Given the description of an element on the screen output the (x, y) to click on. 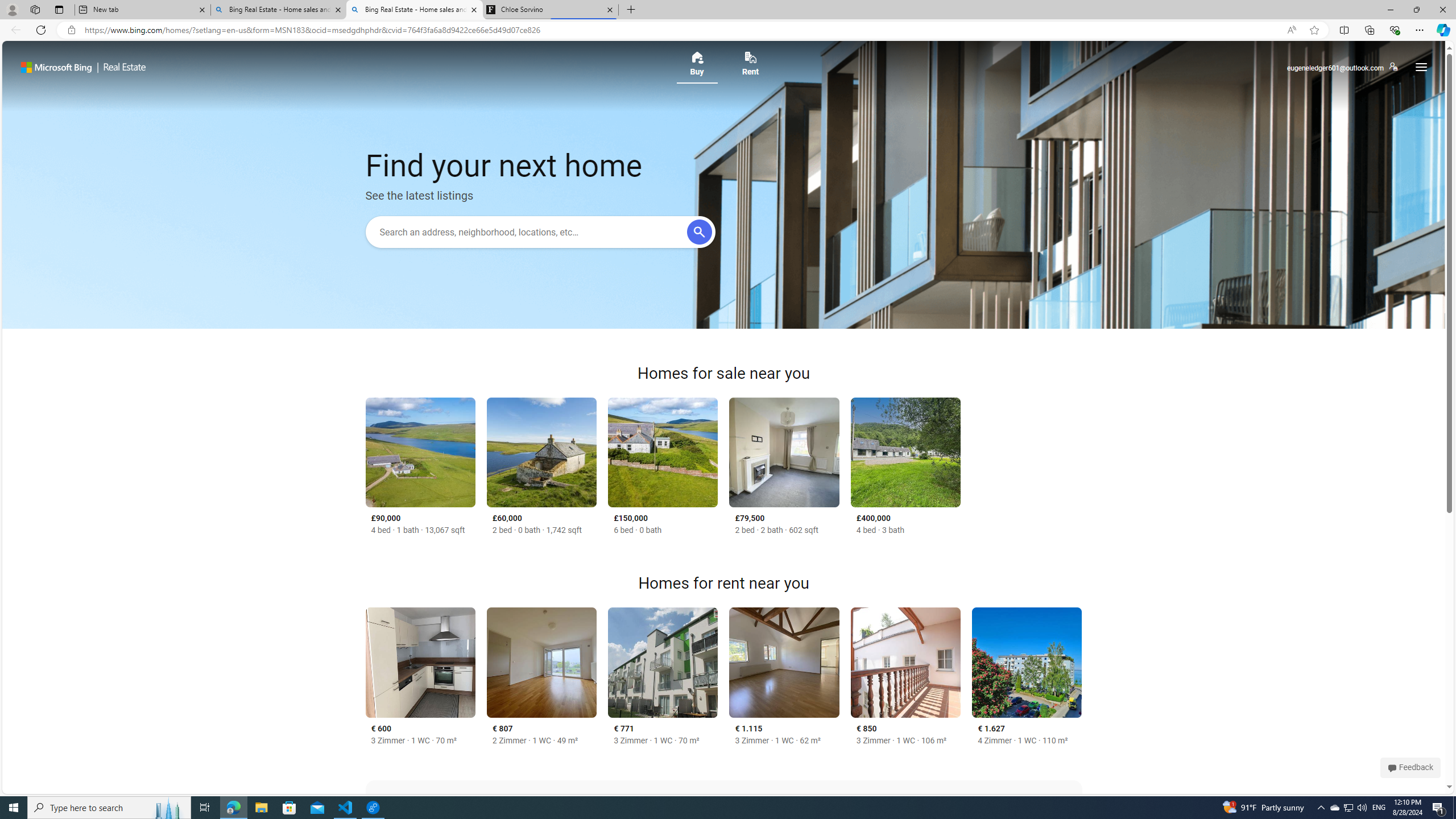
Microsoft Bing (55, 66)
Buy (696, 66)
Rent (750, 66)
